Given the description of an element on the screen output the (x, y) to click on. 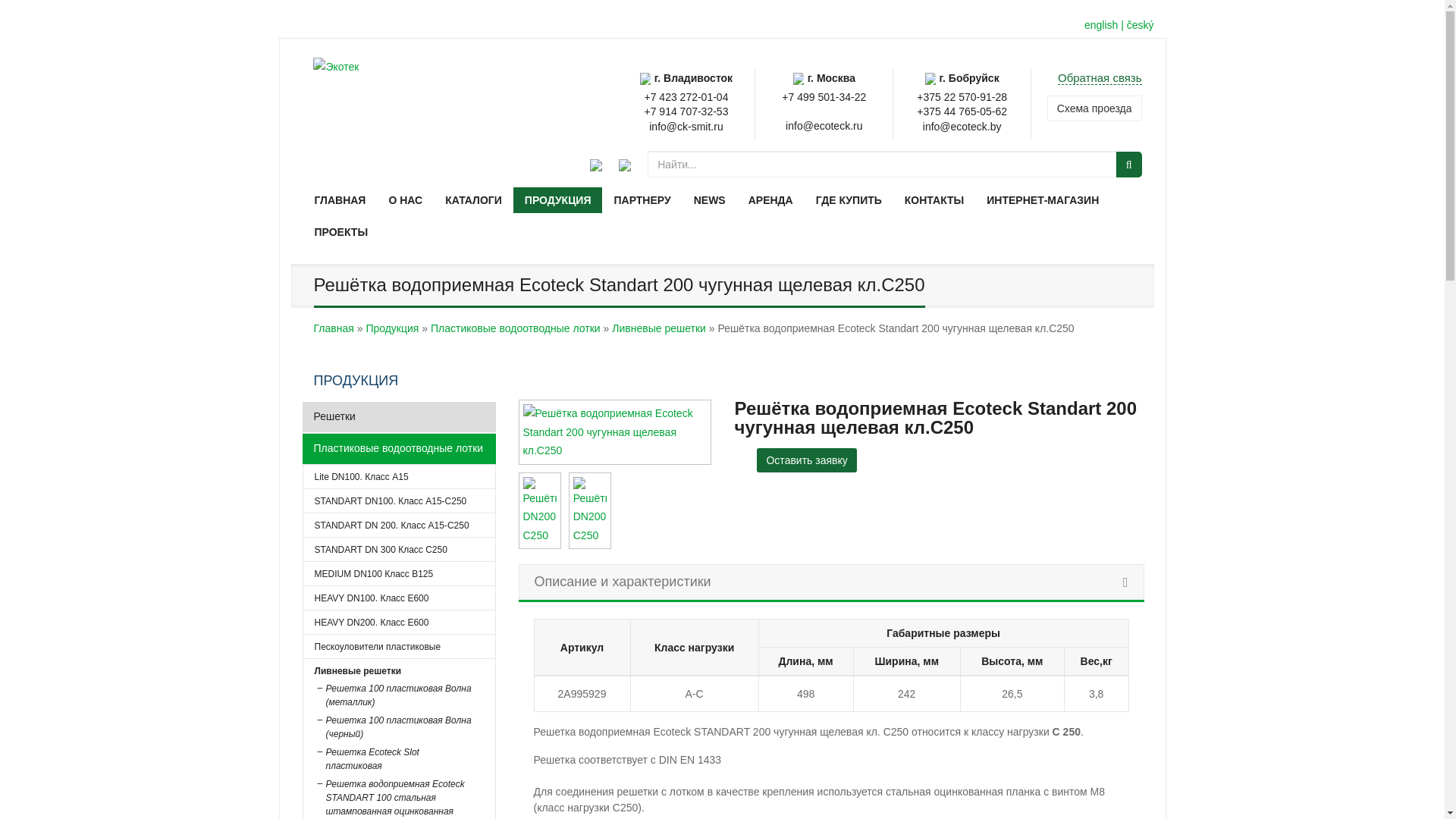
+375 44 765-05-62 Element type: text (961, 111)
+7 423 272-01-04 Element type: text (686, 97)
 |  Element type: text (1121, 24)
NEWS Element type: text (709, 200)
+375 22 570-91-28 Element type: text (961, 97)
+7 914 707-32-53 Element type: text (686, 111)
english Element type: text (1100, 24)
+7 499 501-34-22 Element type: text (823, 97)
